Given the description of an element on the screen output the (x, y) to click on. 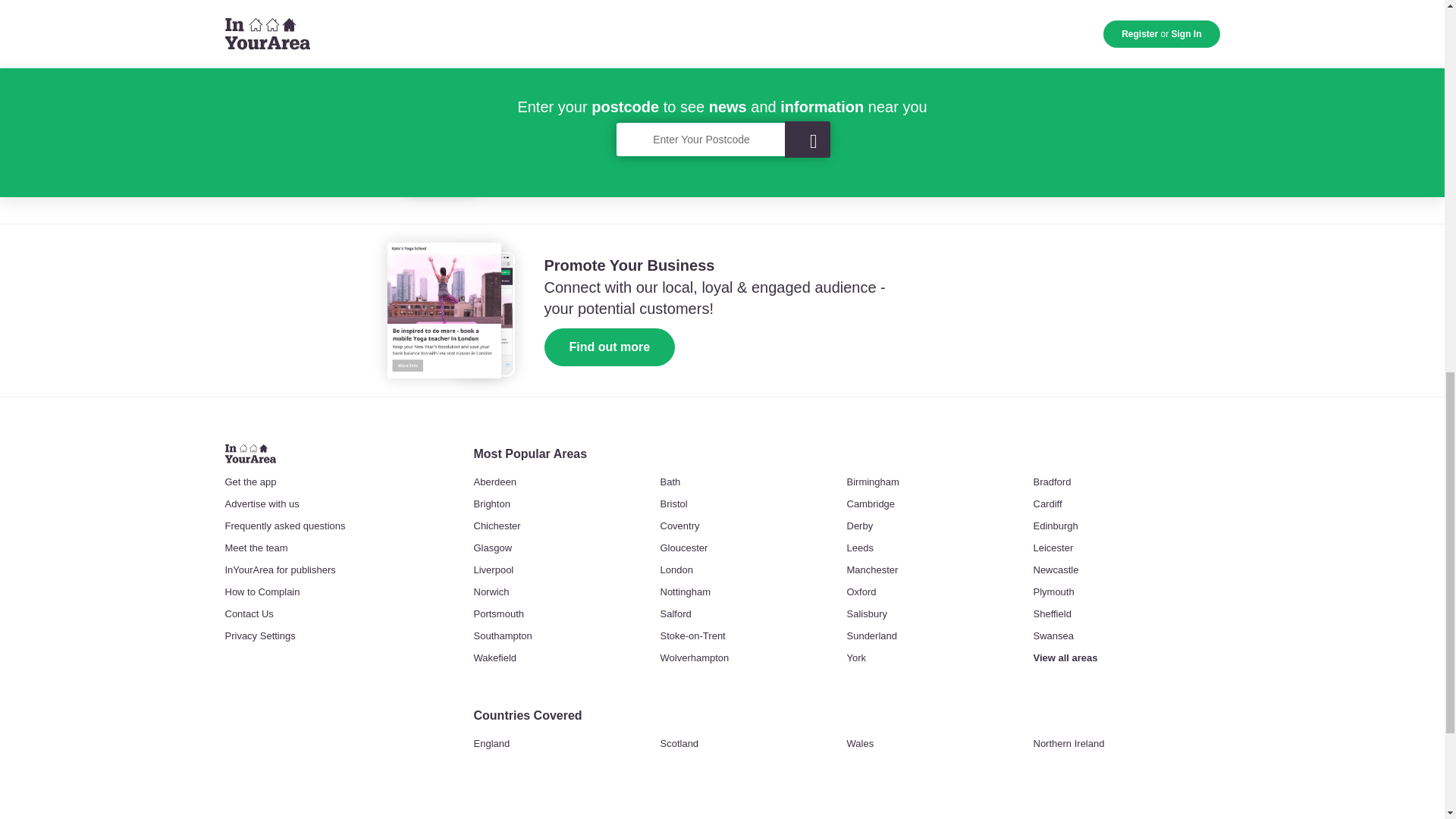
How to Complain (261, 592)
Gloucester (683, 548)
Brighton (491, 504)
Cambridge (870, 504)
Coventry (678, 526)
Edinburgh (1054, 526)
Aberdeen (494, 481)
Nottingham (684, 592)
Contact Us (248, 614)
InYourArea for publishers (279, 570)
Bradford (1051, 481)
Newcastle (1055, 570)
Privacy Settings (259, 635)
Meet the team (255, 548)
Chichester (496, 526)
